Given the description of an element on the screen output the (x, y) to click on. 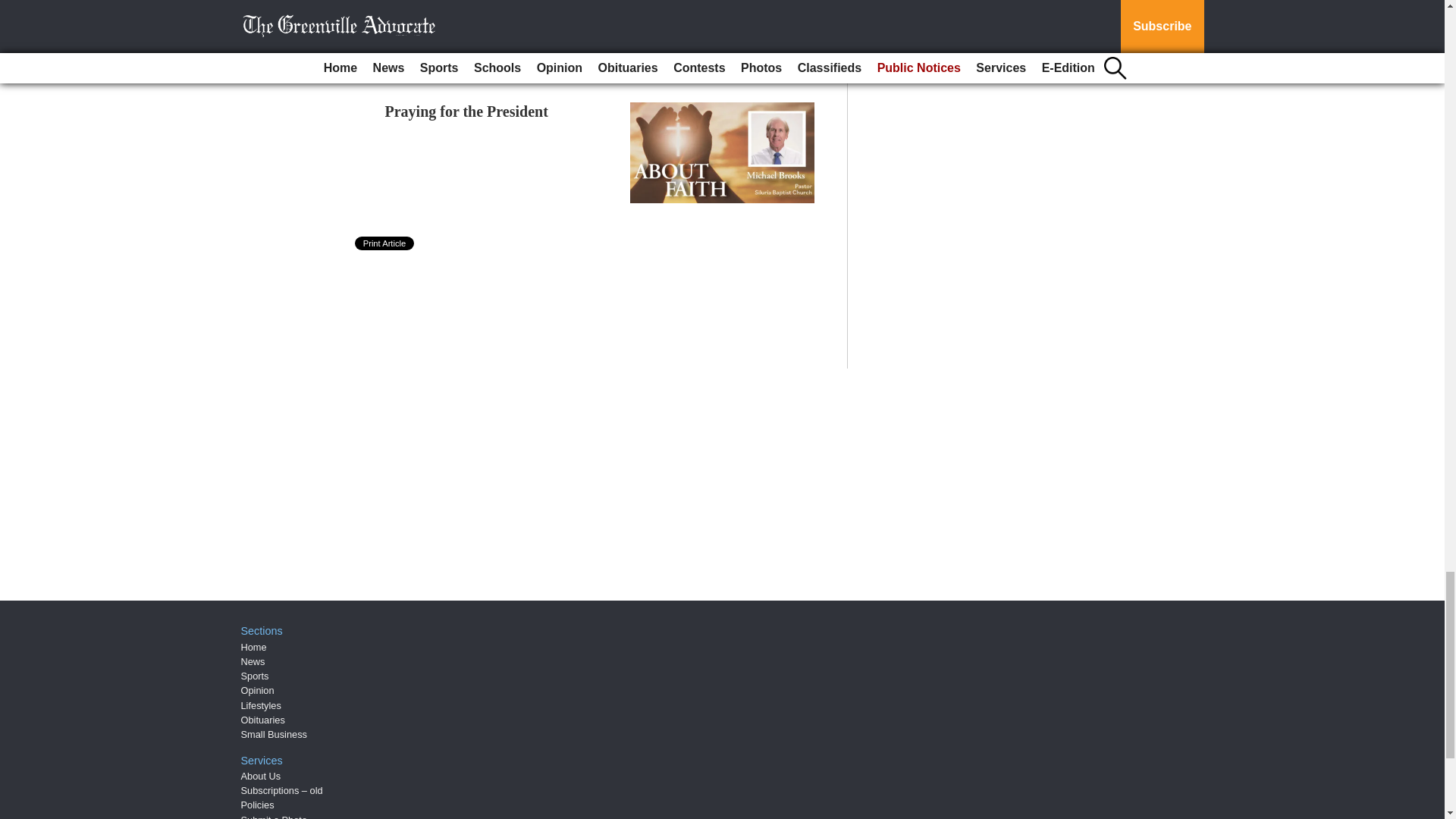
Praying for the President (466, 111)
Print Article (384, 243)
Praying for the President (466, 111)
